Given the description of an element on the screen output the (x, y) to click on. 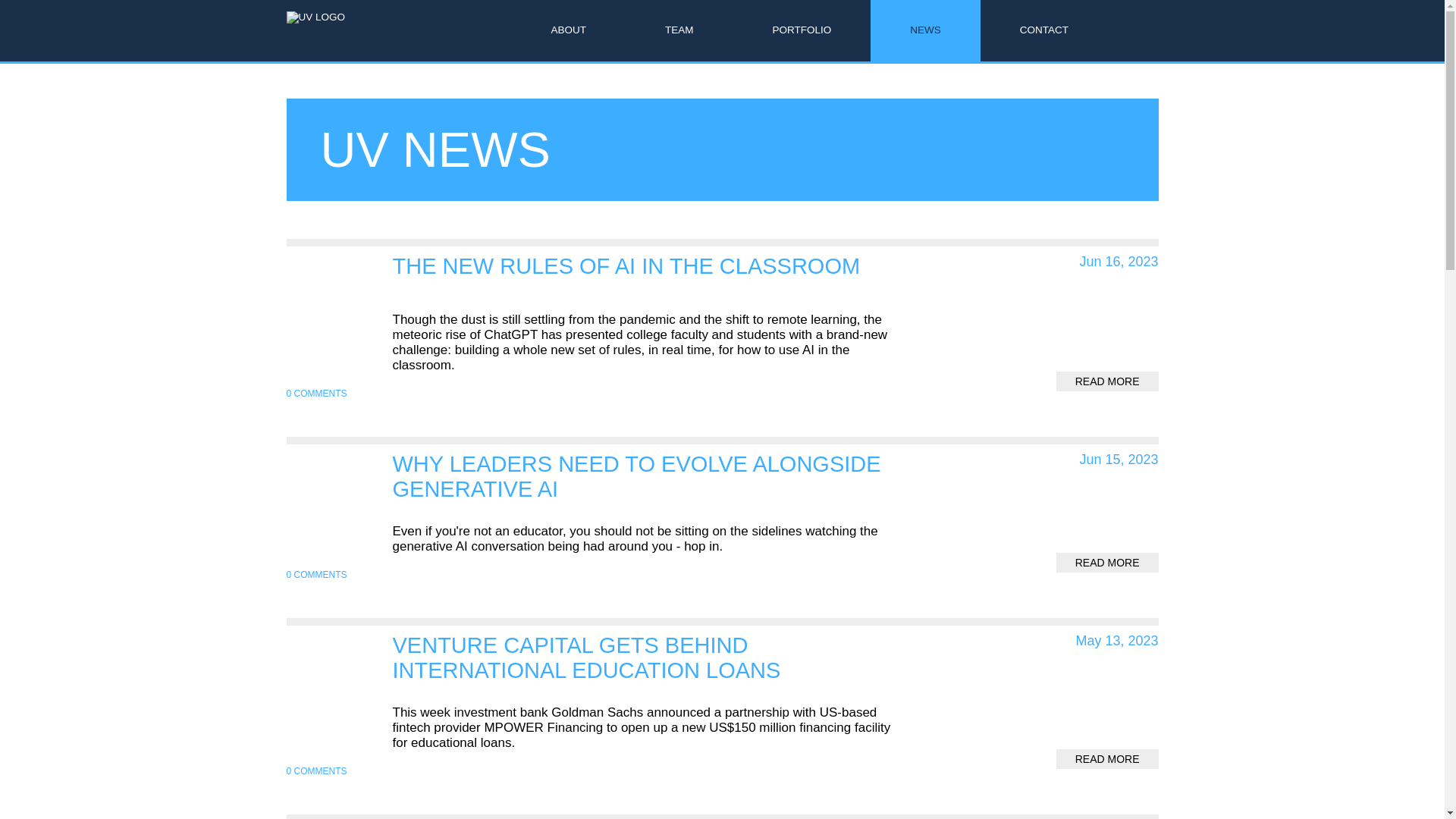
Why leaders need to evolve alongside generative AI (600, 658)
READ MORE (600, 477)
TEAM (1107, 562)
WHY LEADERS NEED TO EVOLVE ALONGSIDE GENERATIVE AI (679, 30)
The New Rules of AI in the Classroom (600, 477)
THE NEW RULES OF AI IN THE CLASSROOM (573, 271)
READ MORE (573, 271)
VENTURE CAPITAL GETS BEHIND INTERNATIONAL EDUCATION LOANS (1107, 759)
PORTFOLIO (600, 658)
